Given the description of an element on the screen output the (x, y) to click on. 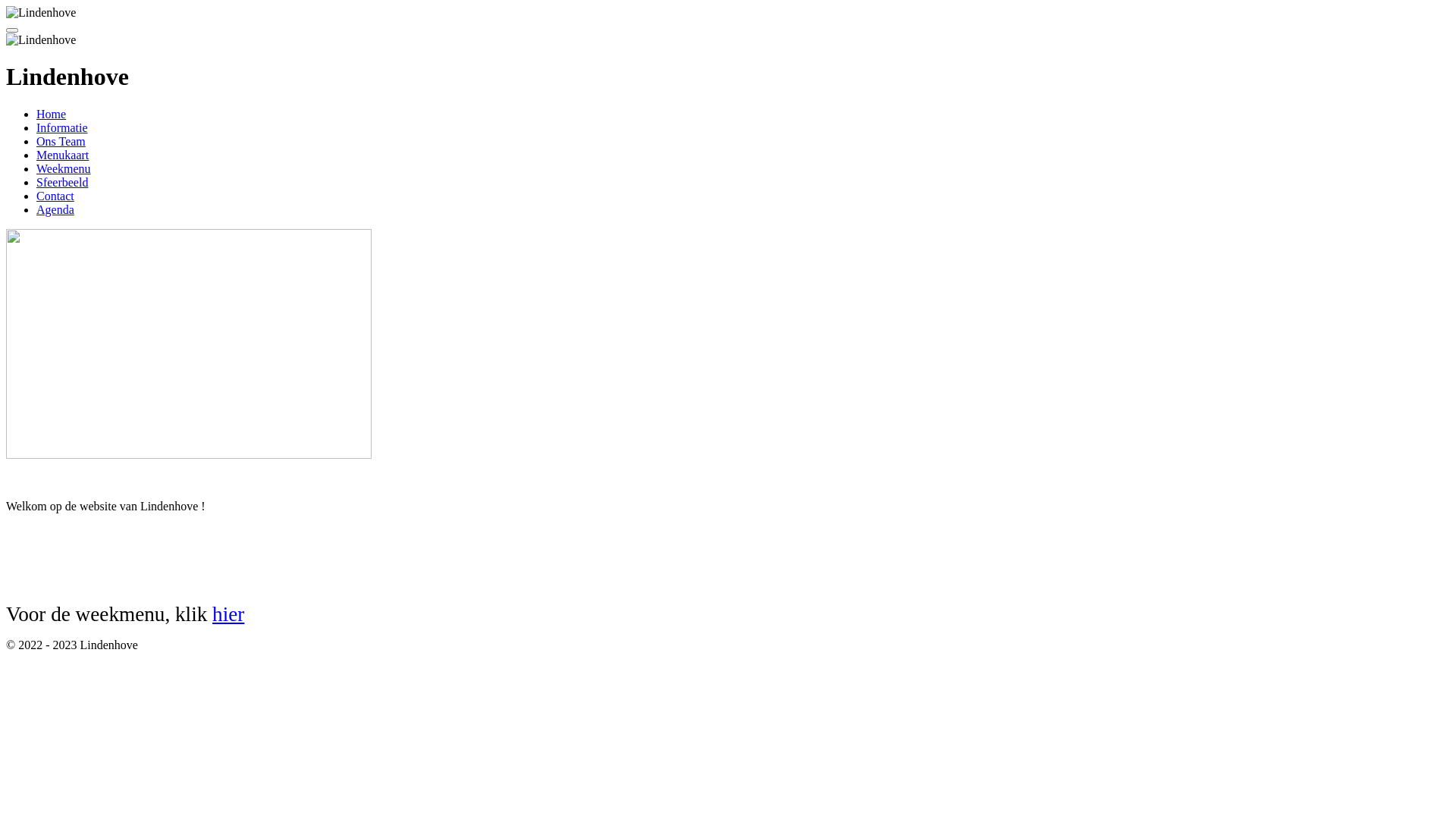
Ons Team Element type: text (60, 140)
Sfeerbeeld Element type: text (61, 181)
Contact Element type: text (55, 195)
Informatie Element type: text (61, 127)
Lindenhove Element type: hover (40, 40)
Agenda Element type: text (55, 209)
Menukaart Element type: text (62, 154)
hier Element type: text (228, 613)
Home Element type: text (50, 113)
Lindenhove Element type: hover (40, 12)
Weekmenu Element type: text (63, 168)
